Given the description of an element on the screen output the (x, y) to click on. 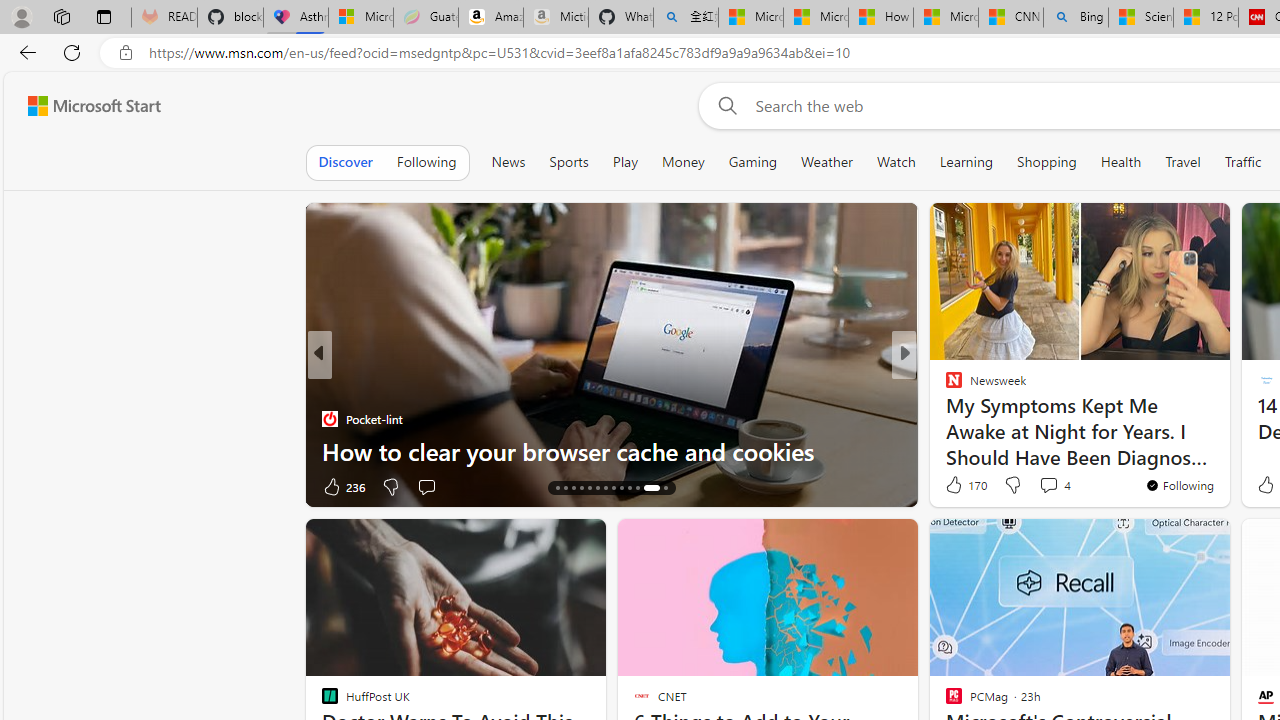
You're following FOX News (253, 490)
View comments 34 Comment (426, 485)
AutomationID: tab-20 (605, 487)
Traffic (1243, 161)
News (507, 162)
Travel (1183, 162)
AutomationID: tab-23 (628, 487)
AutomationID: tab-26 (660, 487)
Web search (724, 105)
Following (426, 161)
News (507, 161)
Play (625, 161)
TODAY (329, 386)
